Given the description of an element on the screen output the (x, y) to click on. 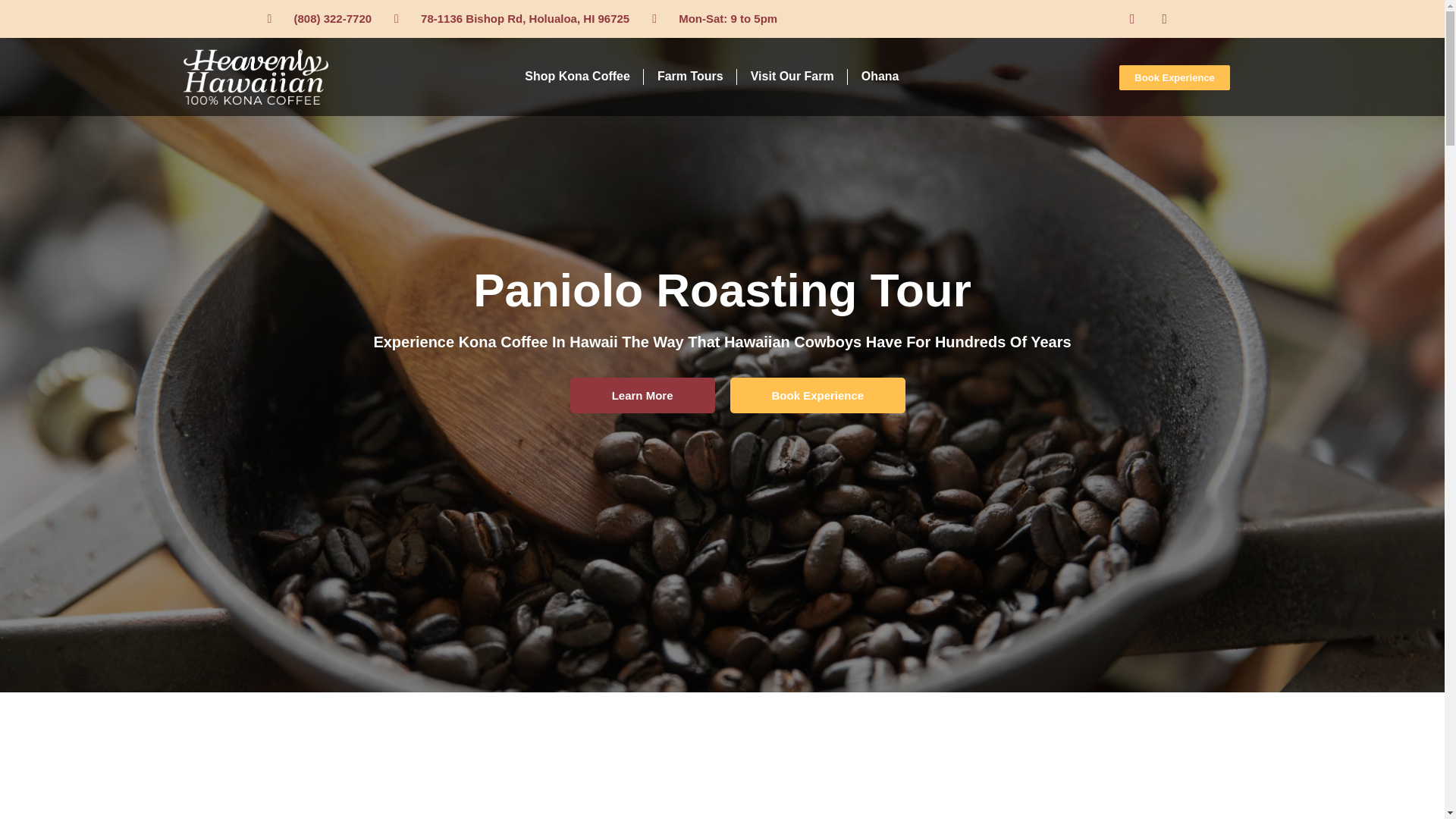
Learn More (642, 395)
Book Experience (817, 395)
Visit Our Farm (792, 76)
Ohana (880, 76)
Farm Tours (690, 76)
Mon-Sat: 9 to 5pm (714, 18)
Shop Kona Coffee (577, 76)
Book Experience (1174, 77)
78-1136 Bishop Rd, Holualoa, HI 96725 (511, 18)
